Given the description of an element on the screen output the (x, y) to click on. 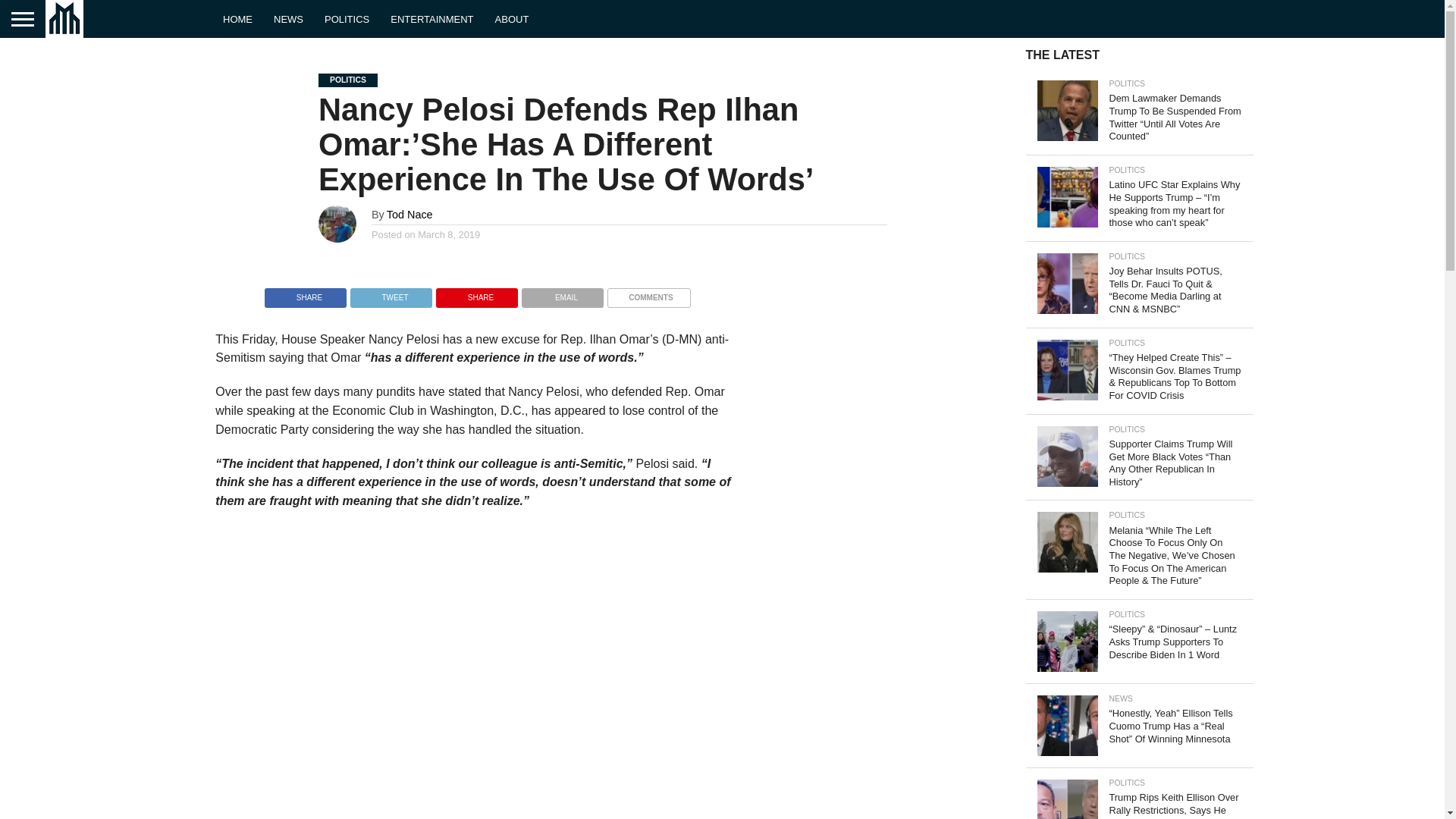
Pin This Post (476, 293)
POLITICS (347, 18)
Posts by Tod Nace (409, 214)
Tweet This Post (390, 293)
Share on Facebook (305, 293)
EMAIL (562, 293)
Tod Nace (409, 214)
ENTERTAINMENT (431, 18)
SHARE (476, 293)
HOME (237, 18)
ABOUT (512, 18)
COMMENTS (648, 293)
SHARE (305, 293)
TWEET (390, 293)
NEWS (288, 18)
